Given the description of an element on the screen output the (x, y) to click on. 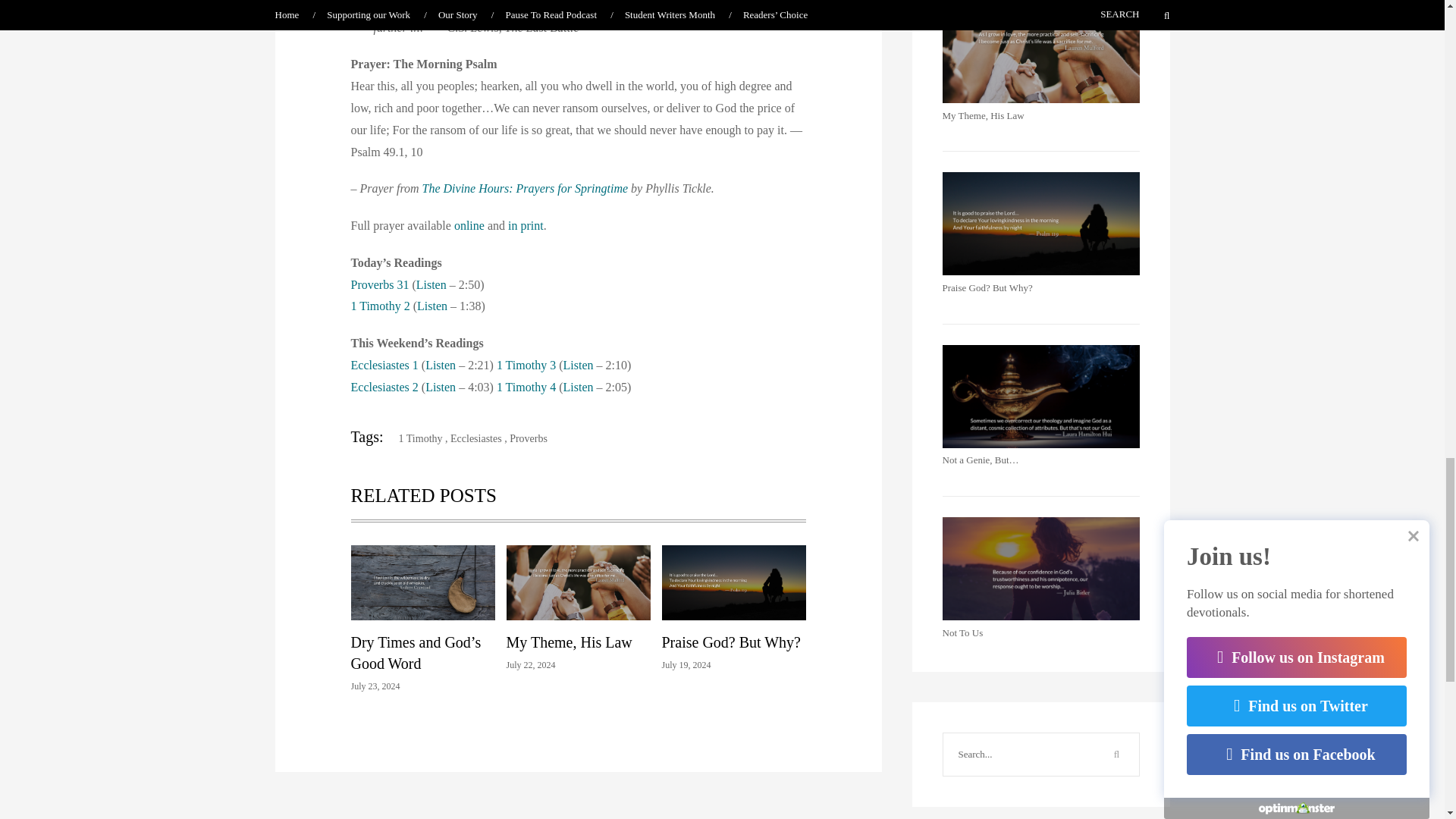
1 Timothy 4 (526, 386)
Ecclesiastes 2 (383, 386)
Ecclesiastes 1 (383, 364)
1 Timothy (414, 438)
The Divine Hours: Prayers for Springtime (525, 187)
Listen (577, 364)
1 Timothy 3 (526, 364)
1 Timothy 2 (379, 305)
Listen (440, 386)
online (469, 225)
Listen (440, 364)
Listen (431, 284)
Proverbs 31 (379, 284)
Proverbs (528, 438)
Ecclesiastes (475, 438)
